Given the description of an element on the screen output the (x, y) to click on. 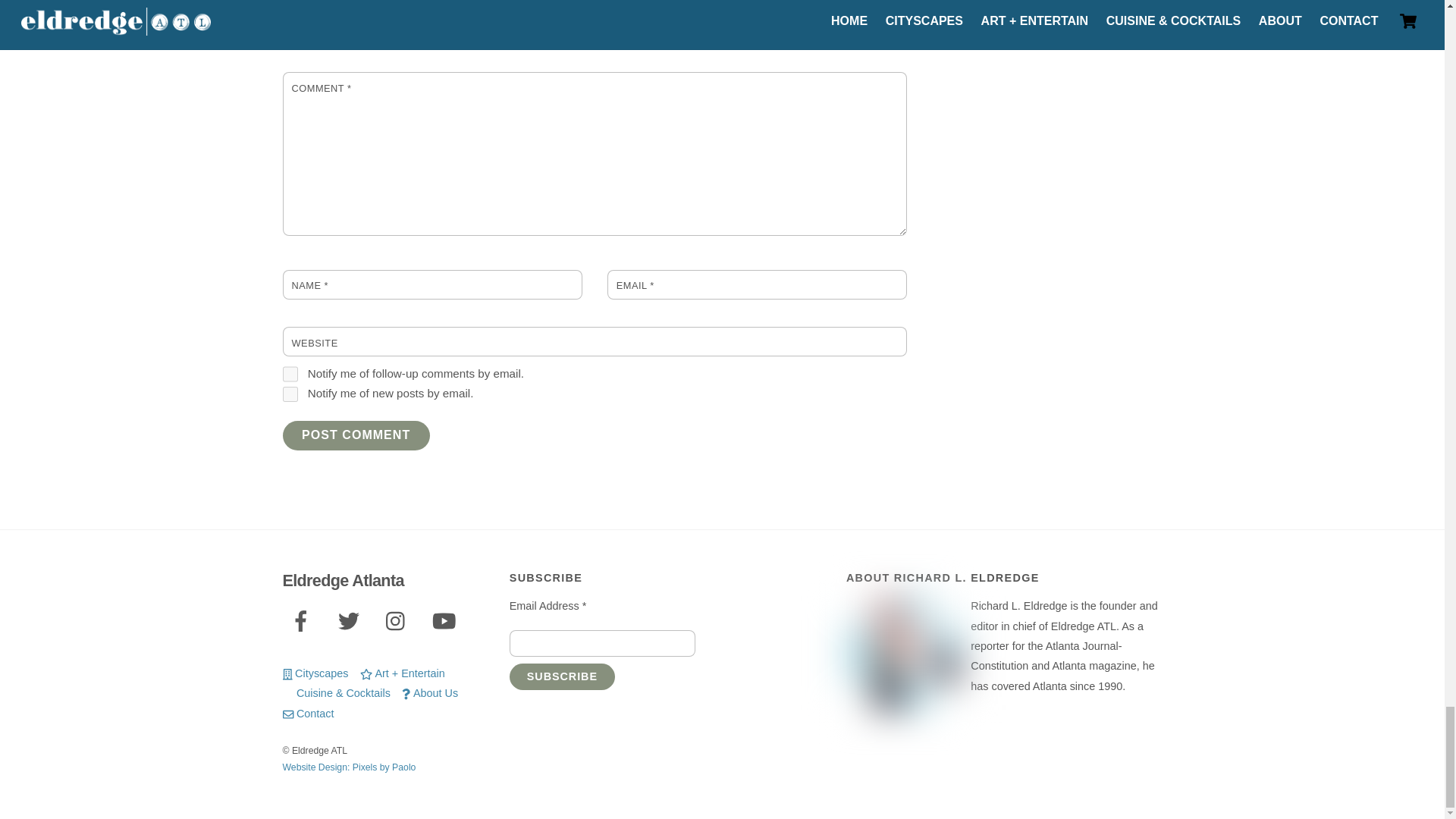
subscribe (290, 374)
Post Comment (355, 435)
Eldredge Atlanta (342, 579)
subscribe (290, 394)
Subscribe (561, 676)
